Given the description of an element on the screen output the (x, y) to click on. 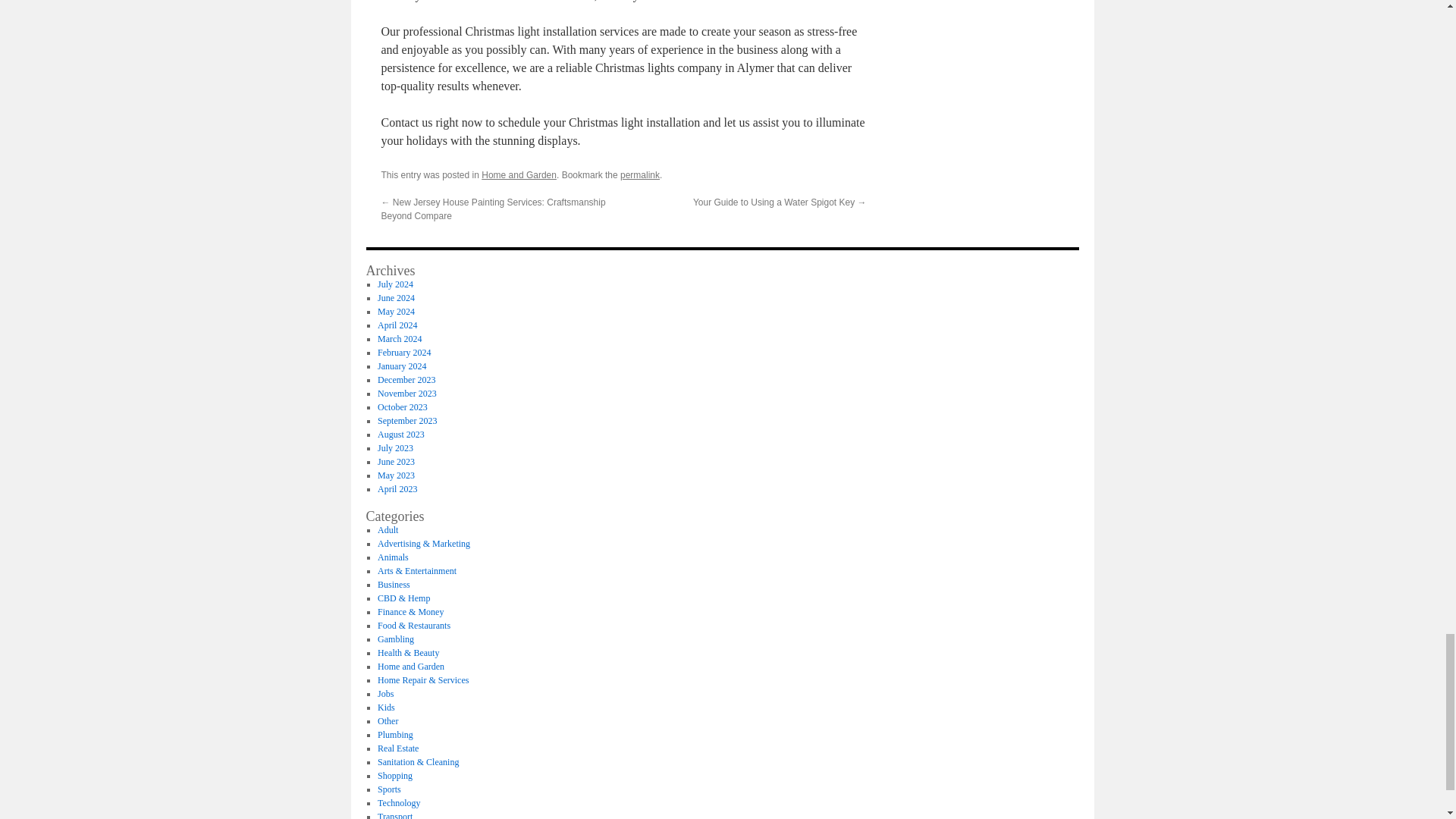
July 2024 (395, 284)
April 2024 (396, 325)
March 2024 (399, 338)
permalink (639, 174)
December 2023 (406, 379)
Adult (387, 529)
August 2023 (401, 434)
Animals (393, 557)
January 2024 (401, 366)
September 2023 (406, 420)
Home and Garden (518, 174)
June 2024 (395, 297)
June 2023 (395, 461)
April 2023 (396, 489)
October 2023 (402, 407)
